Given the description of an element on the screen output the (x, y) to click on. 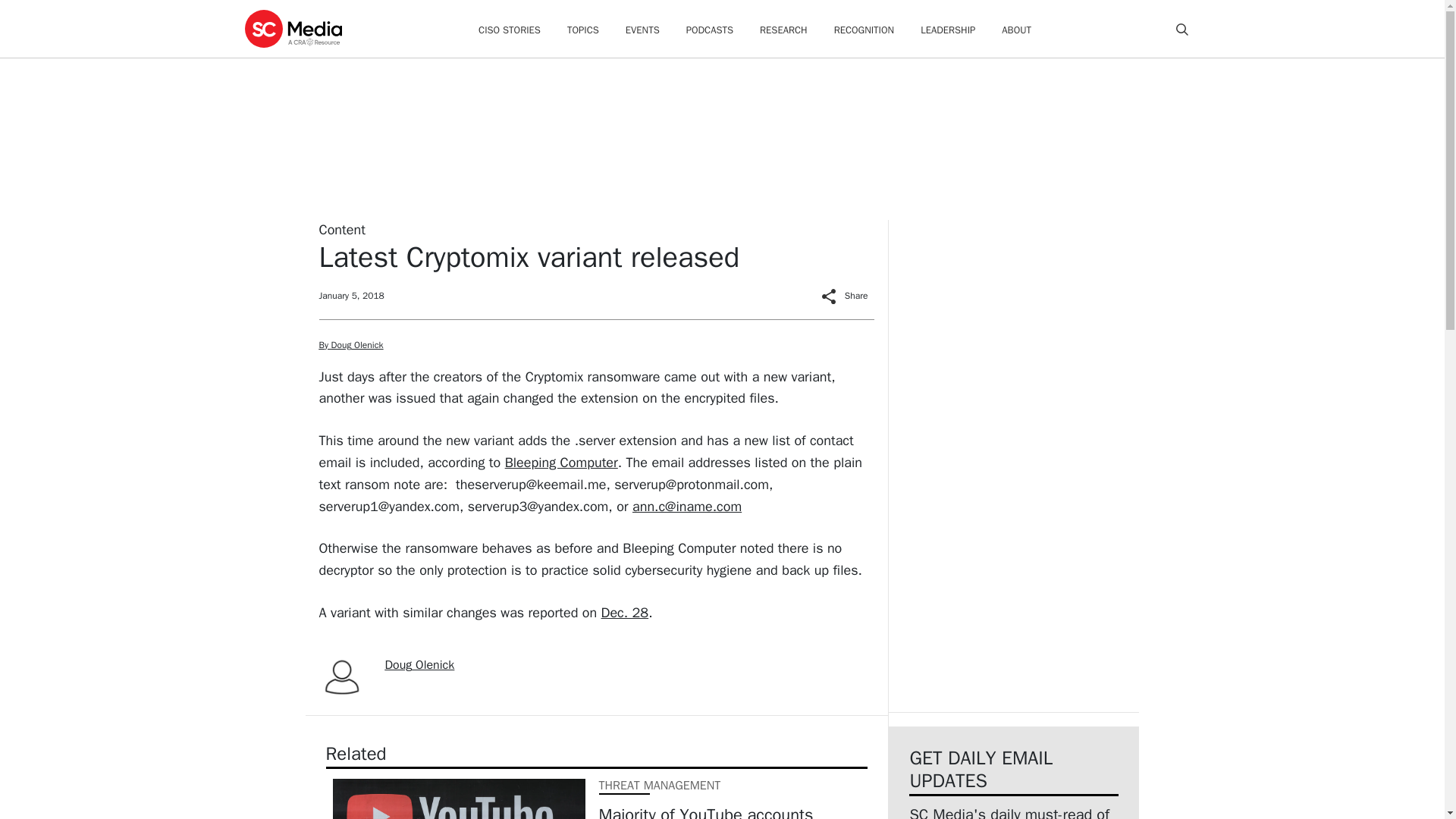
CISO STORIES (509, 30)
Content (341, 229)
RESEARCH (784, 30)
LEADERSHIP (947, 30)
ABOUT (1015, 30)
Doug Olenick (419, 664)
Bleeping Computer (561, 462)
PODCASTS (709, 30)
RECOGNITION (863, 30)
By Doug Olenick (350, 345)
EVENTS (642, 30)
THREAT MANAGEMENT (659, 785)
TOPICS (582, 30)
Dec. 28 (625, 612)
